Given the description of an element on the screen output the (x, y) to click on. 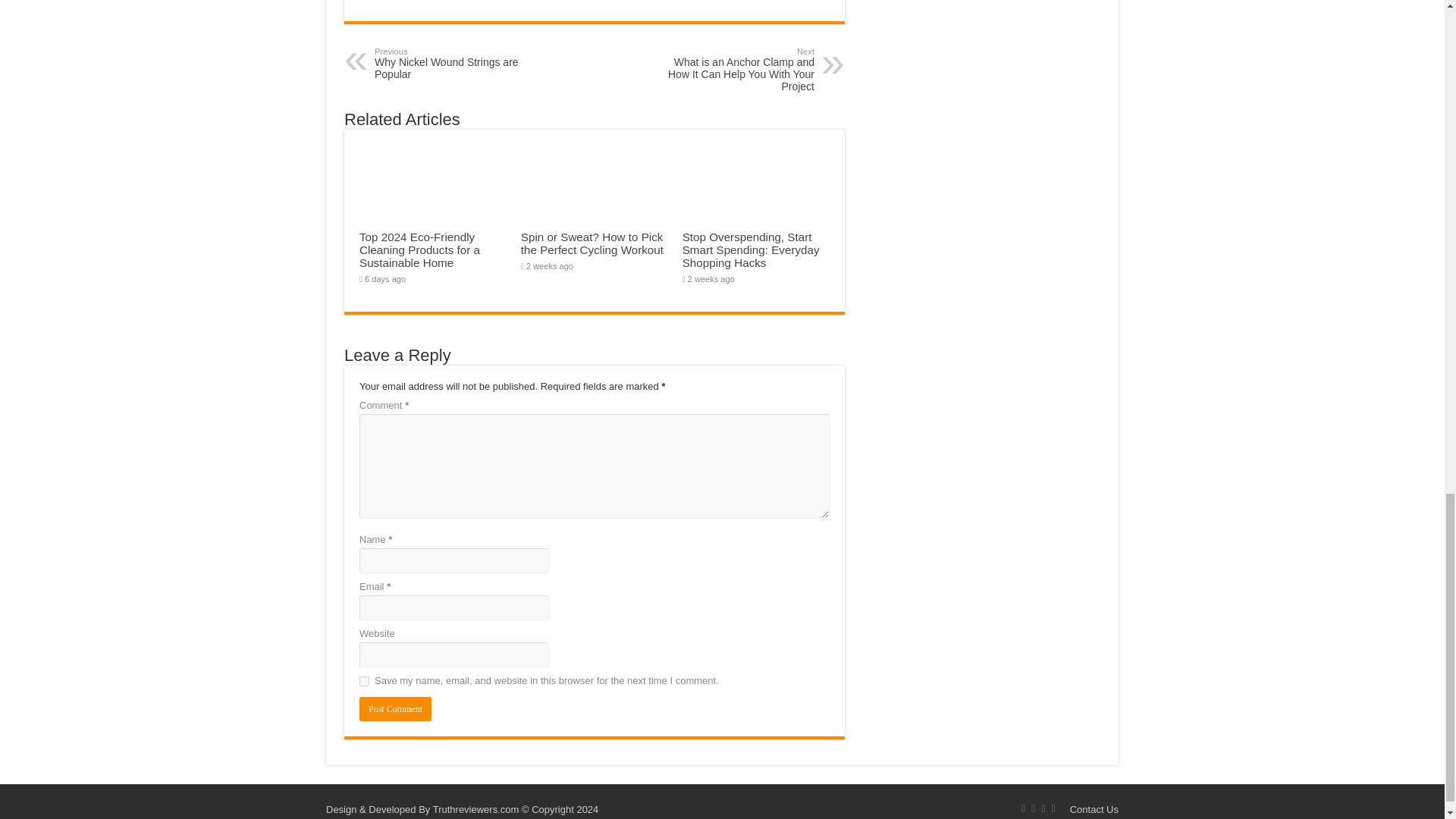
Post Comment (451, 63)
yes (394, 708)
